Given the description of an element on the screen output the (x, y) to click on. 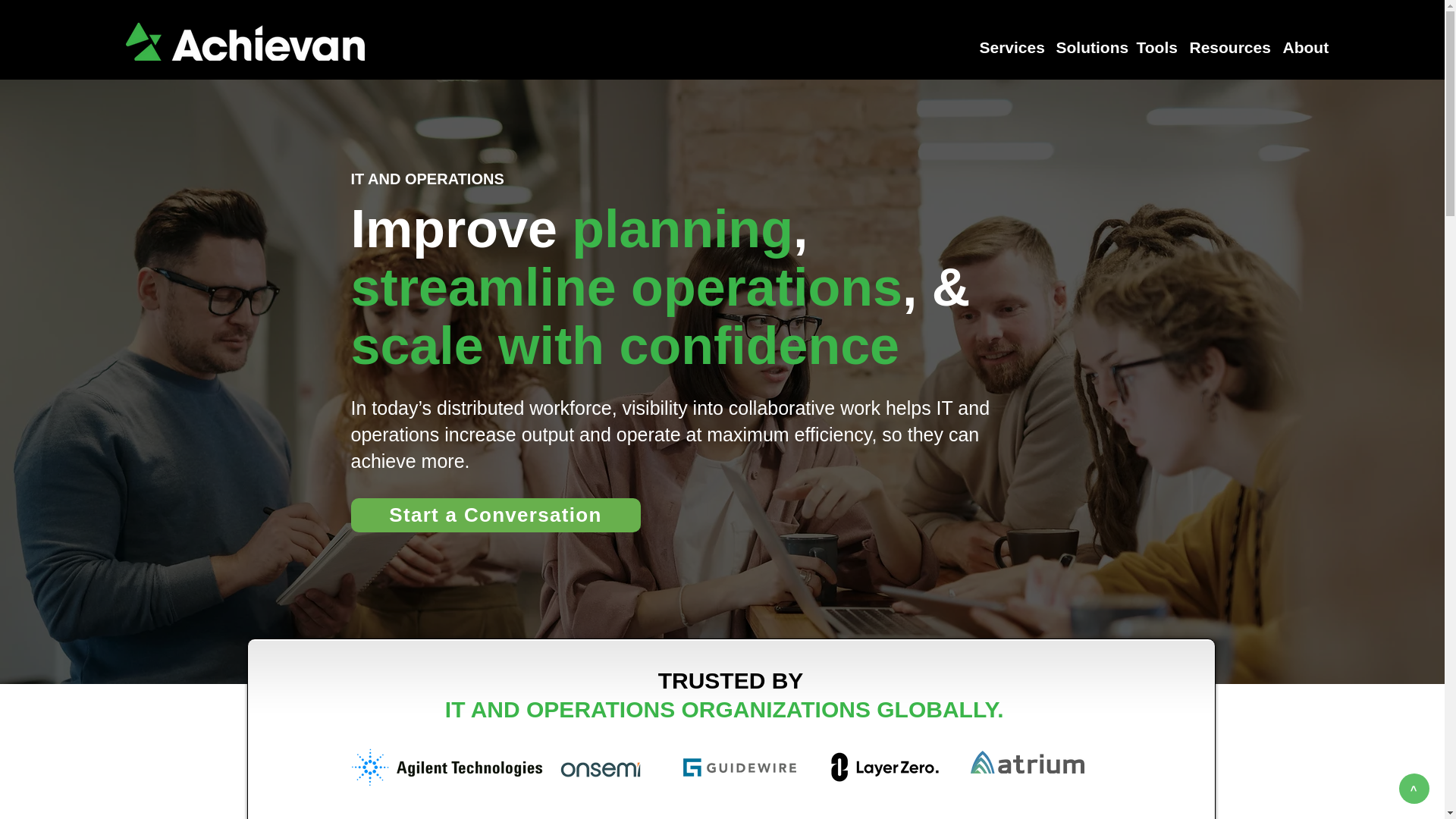
Home (245, 41)
Services (1010, 47)
Start a Conversation (495, 514)
